Given the description of an element on the screen output the (x, y) to click on. 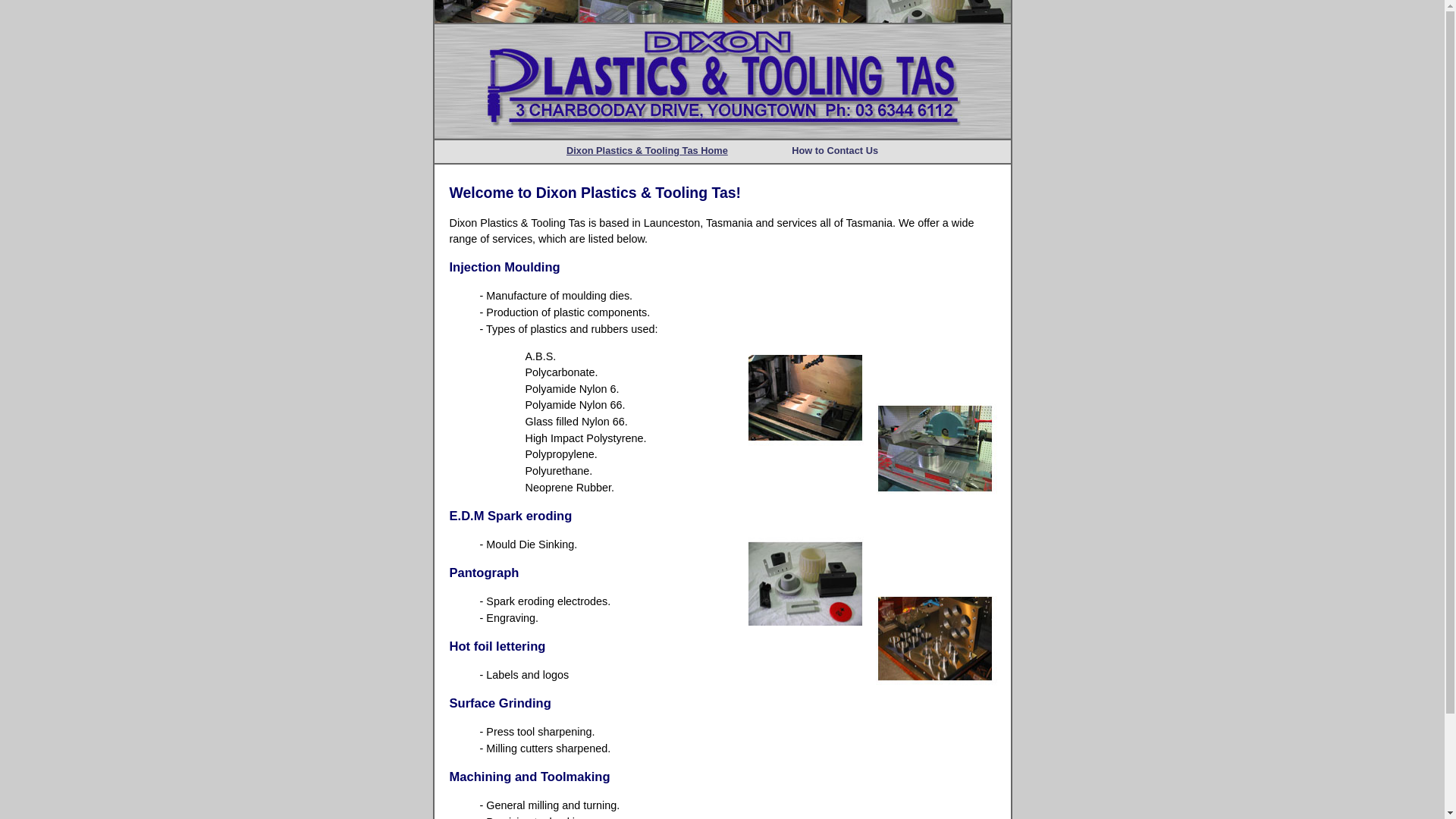
How to Contact Us Element type: text (834, 150)
Dixon Plastics & Tooling Tas Home Element type: text (647, 150)
